Given the description of an element on the screen output the (x, y) to click on. 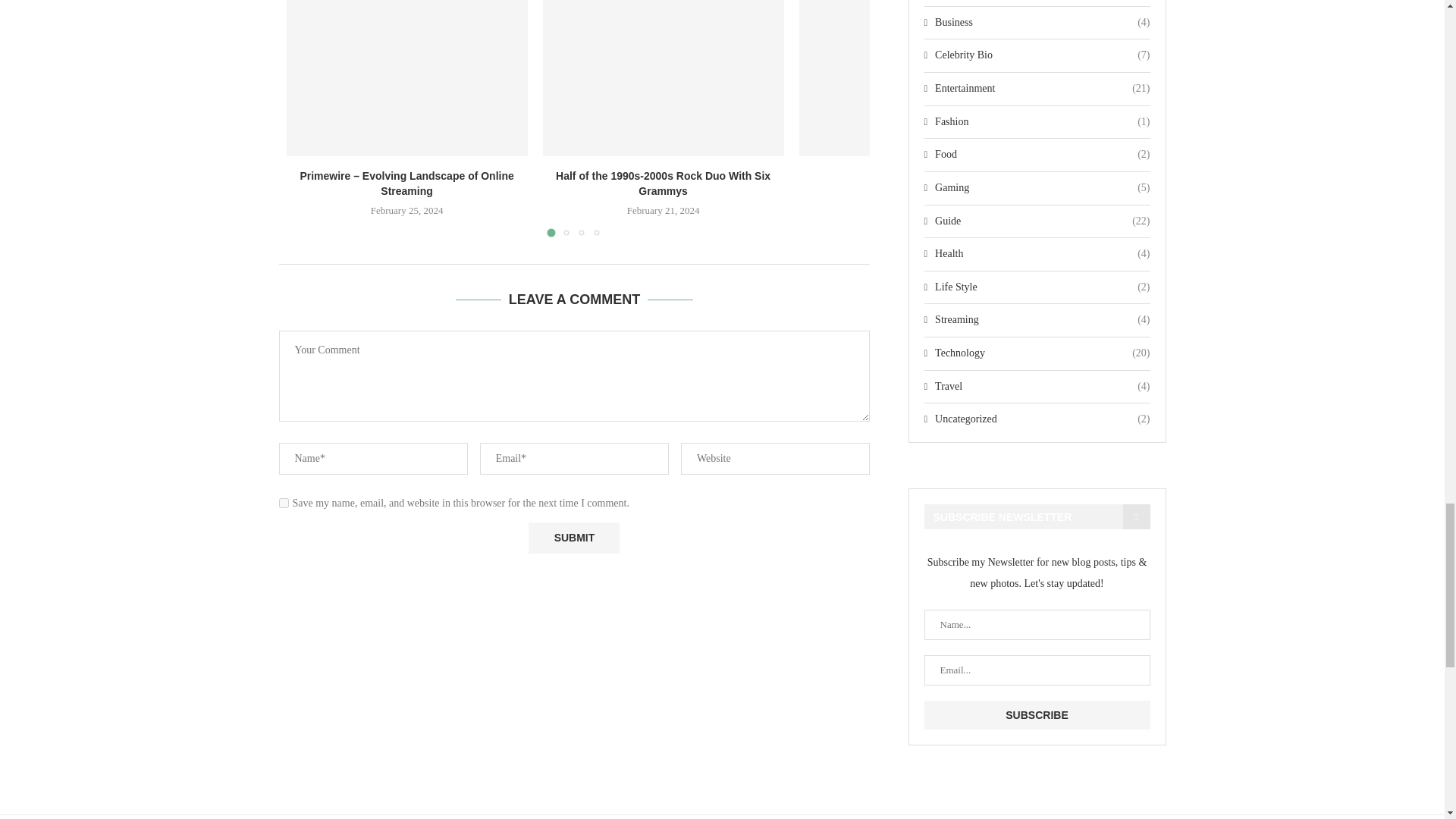
Subscribe (1036, 715)
yes (283, 502)
Submit (574, 537)
Half of the 1990s-2000s Rock Duo With Six Grammys (663, 78)
Soap2day (920, 78)
